Given the description of an element on the screen output the (x, y) to click on. 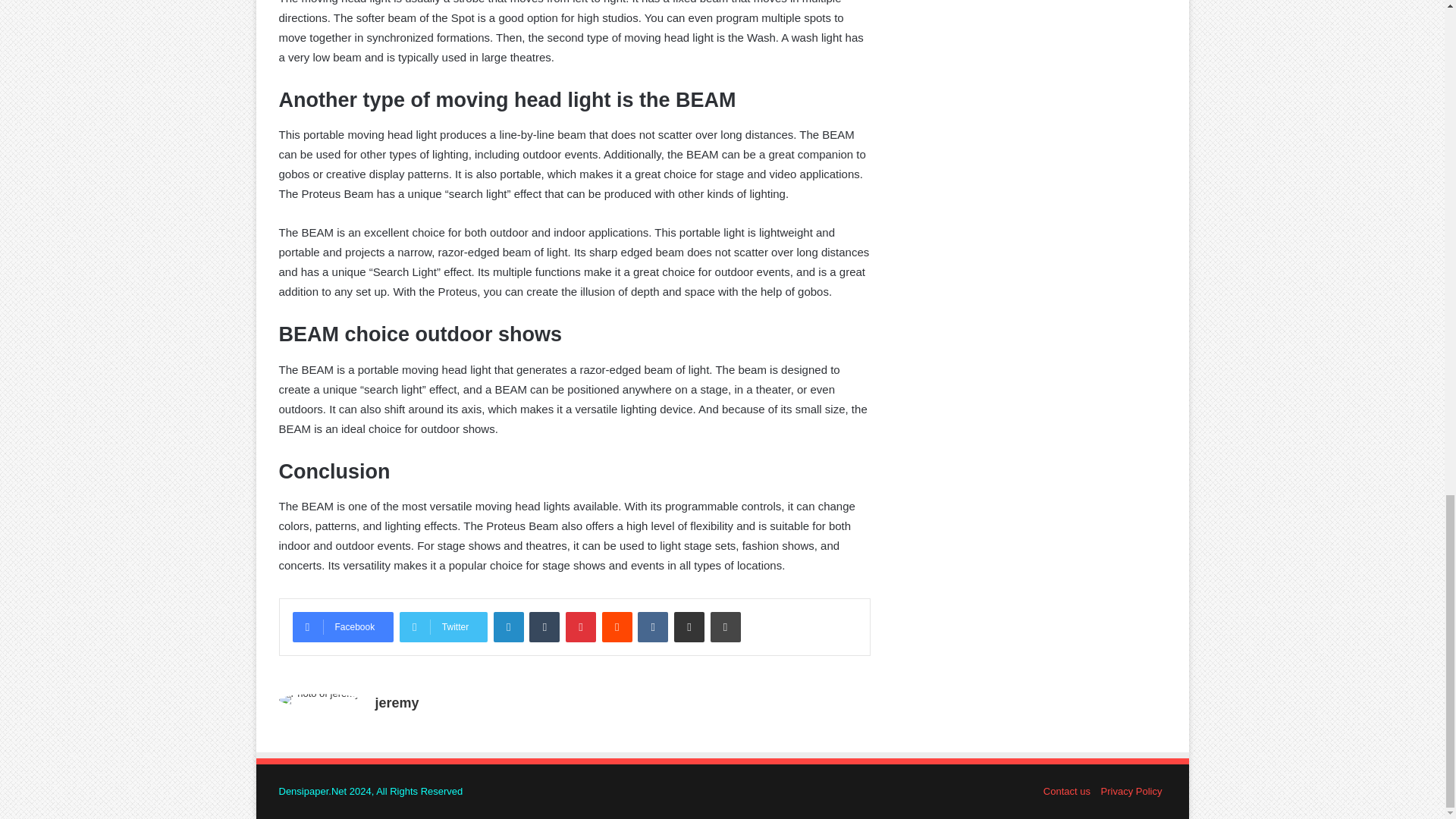
Twitter (442, 626)
Pinterest (580, 626)
Contact us (1066, 790)
Pinterest (580, 626)
Tumblr (544, 626)
Print (725, 626)
Print (725, 626)
Tumblr (544, 626)
LinkedIn (508, 626)
VKontakte (652, 626)
